Given the description of an element on the screen output the (x, y) to click on. 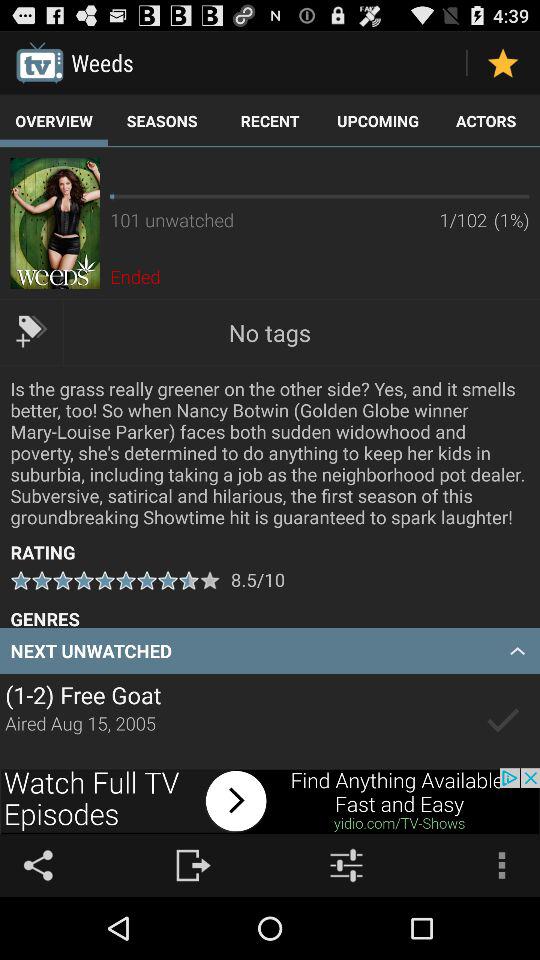
more information on the movie (54, 223)
